Given the description of an element on the screen output the (x, y) to click on. 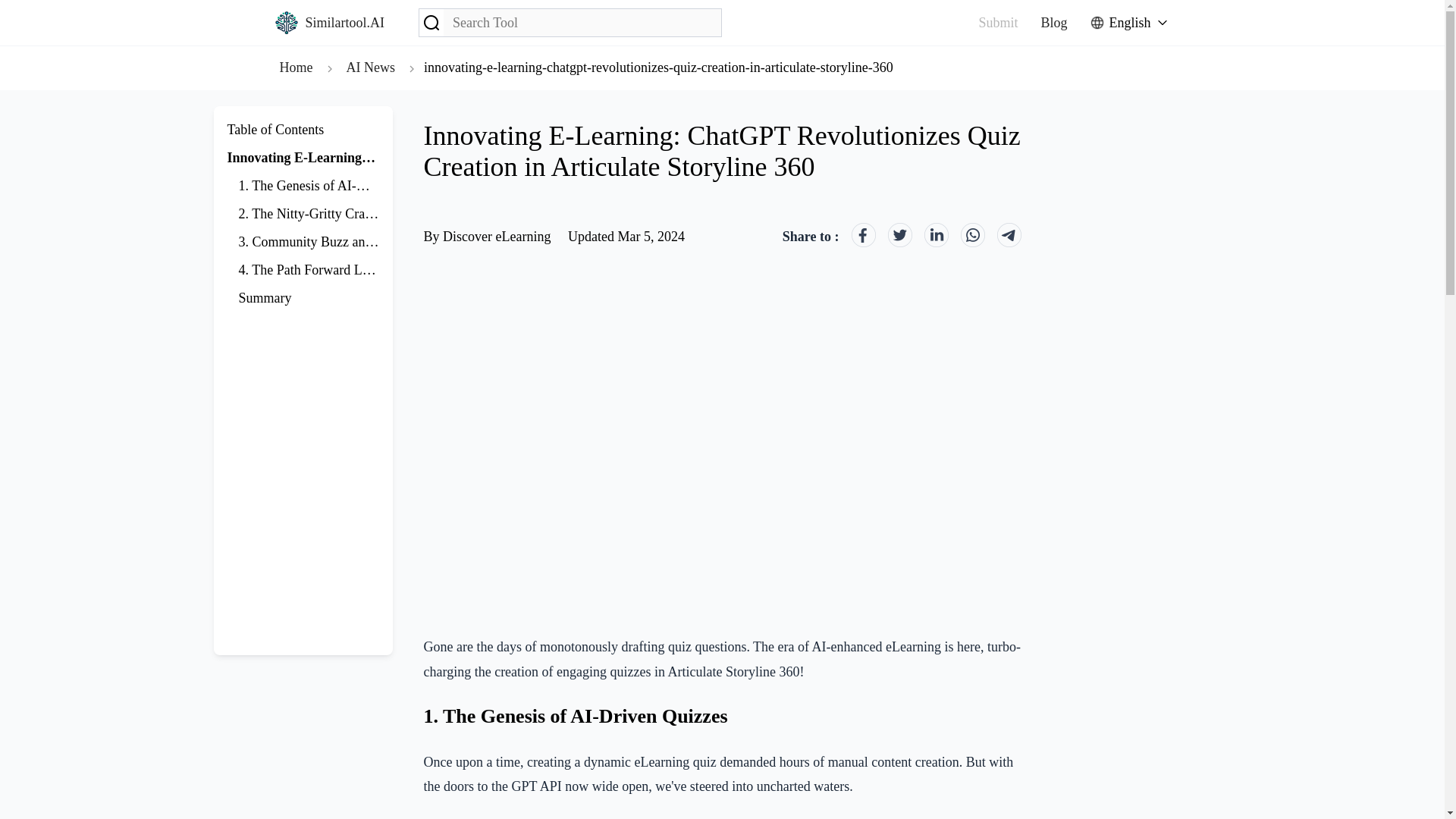
AI News (369, 67)
Summary (264, 297)
4. The Path Forward Learning and Evolution (360, 269)
Home (296, 67)
3. Community Buzz and Curiosities (335, 241)
1. The Genesis of AI-Driven Quizzes (339, 185)
Similartool.AI (329, 22)
2. The Nitty-Gritty Crafting the Magic (343, 213)
Submit (997, 23)
Blog (1054, 23)
